Given the description of an element on the screen output the (x, y) to click on. 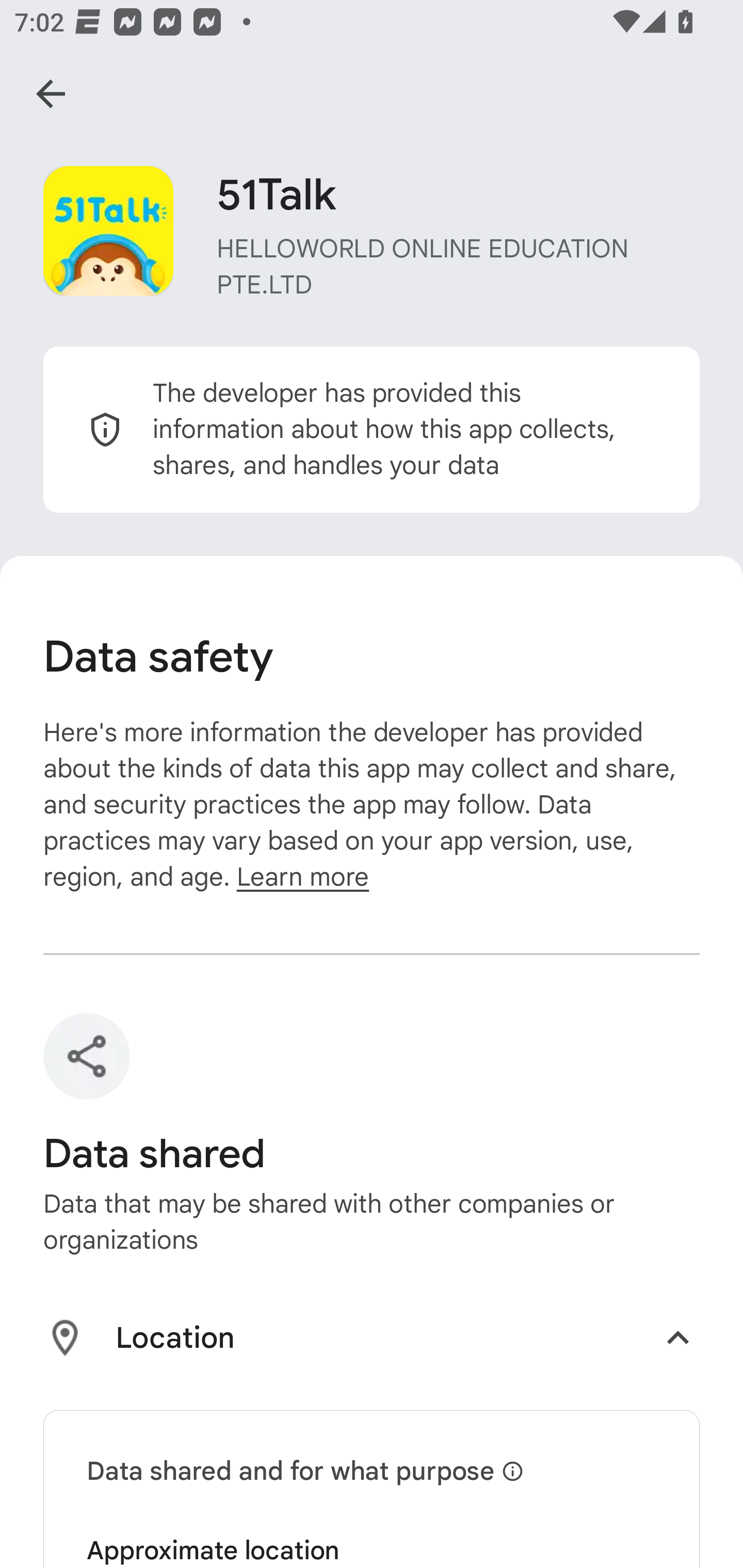
Navigate up (50, 93)
heading Location Collapse button (371, 1341)
